Given the description of an element on the screen output the (x, y) to click on. 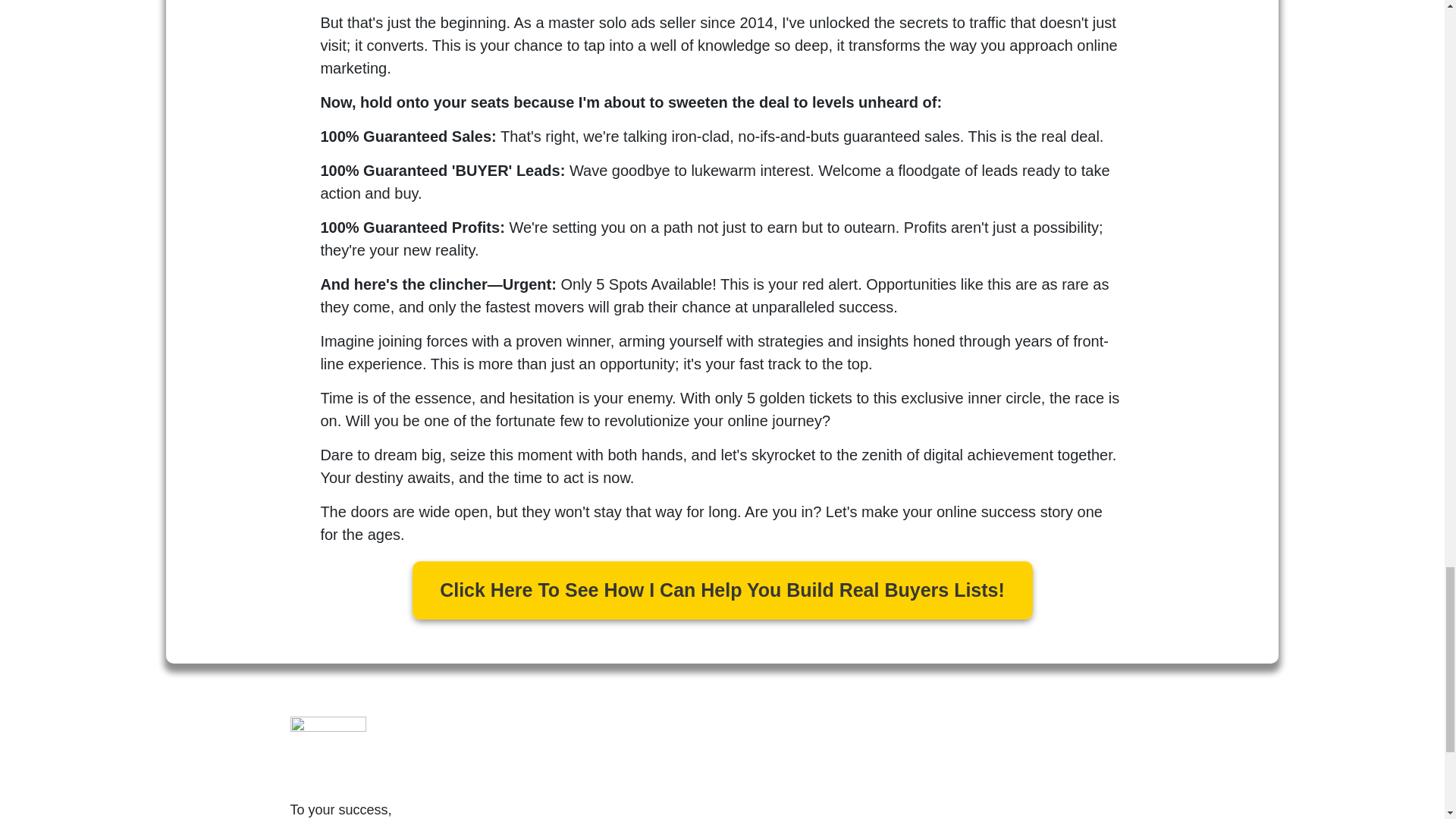
michel-sirois-1 (327, 754)
